Given the description of an element on the screen output the (x, y) to click on. 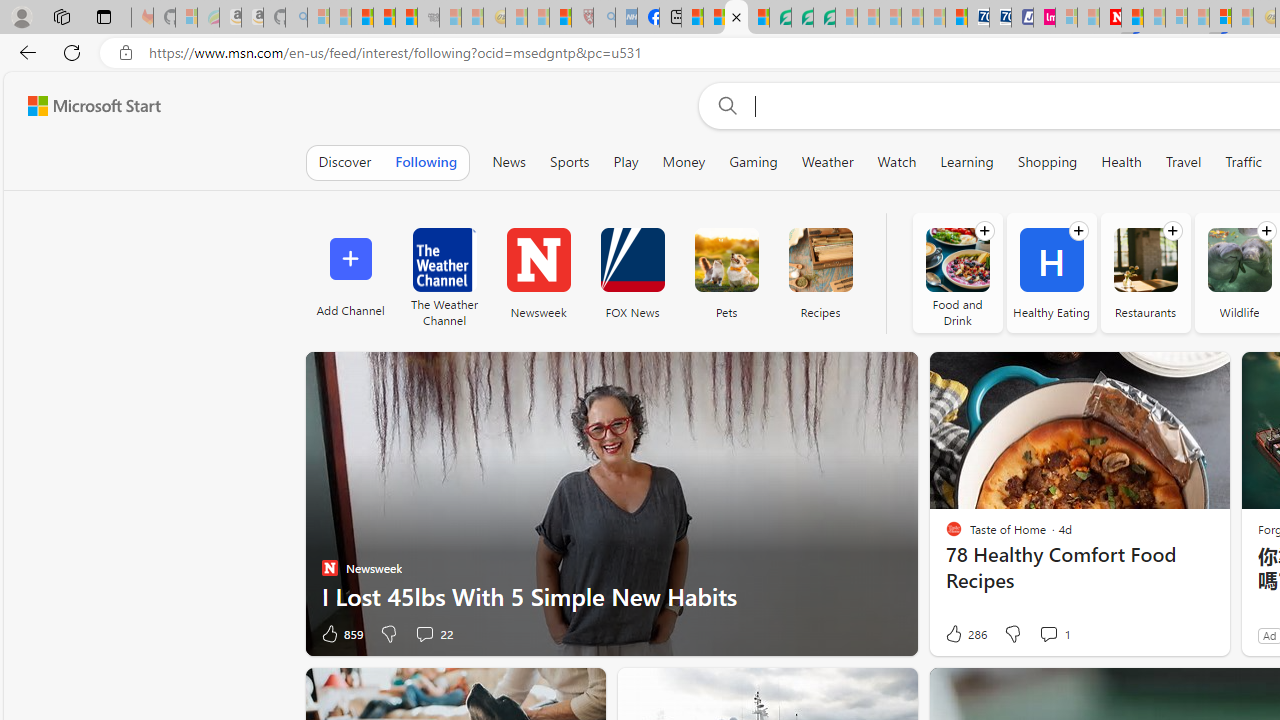
Local - MSN (560, 17)
Hide this story (544, 691)
Recipes (820, 272)
